Given the description of an element on the screen output the (x, y) to click on. 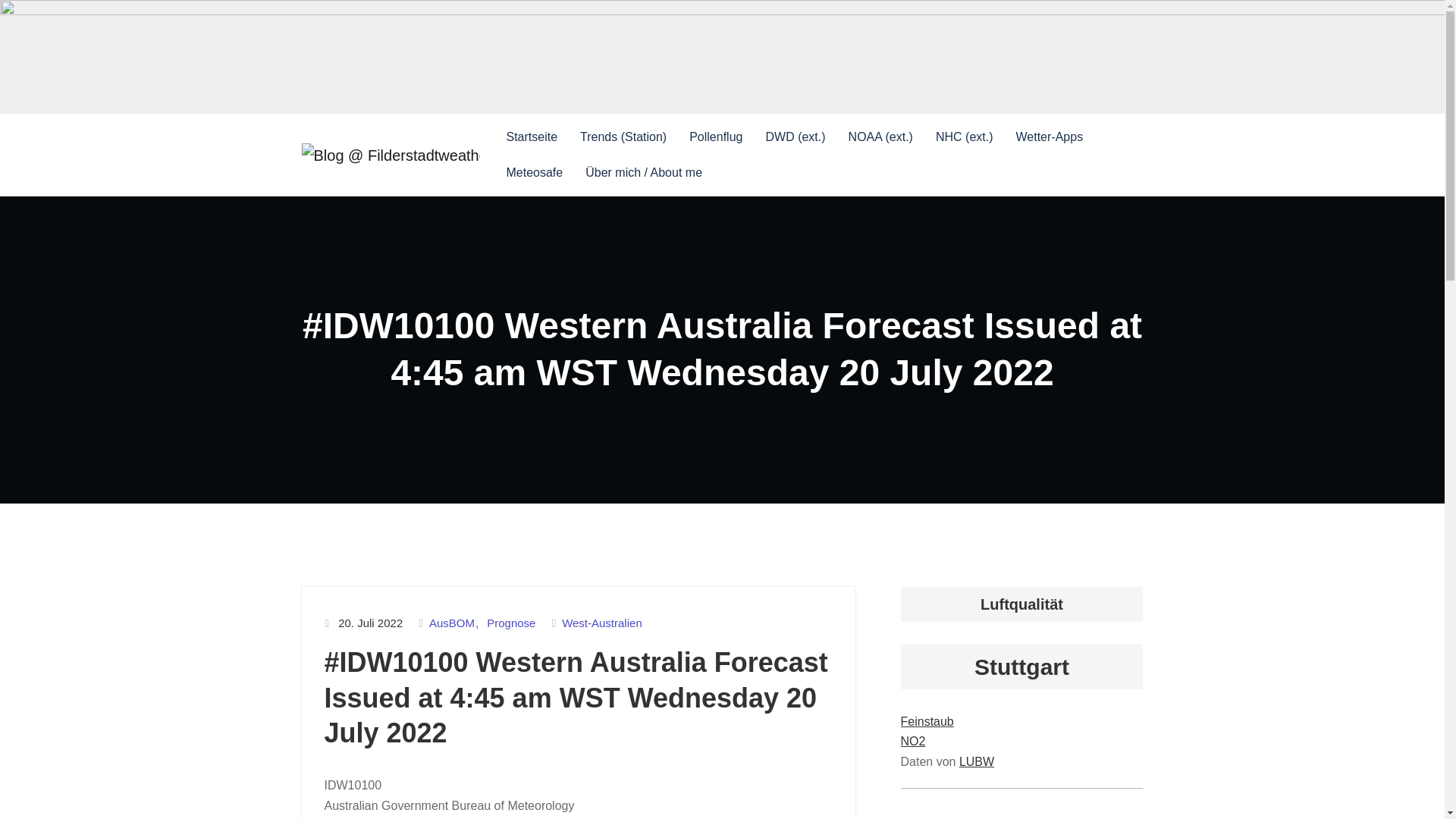
Feinstaub (927, 721)
AusBOM (455, 623)
20. Juli 2022 (370, 623)
Meteosafe (533, 172)
NO2 (913, 740)
LUBW (976, 761)
Startseite (531, 137)
West-Australien (602, 623)
Pollenflug (715, 137)
Prognose (510, 623)
